Given the description of an element on the screen output the (x, y) to click on. 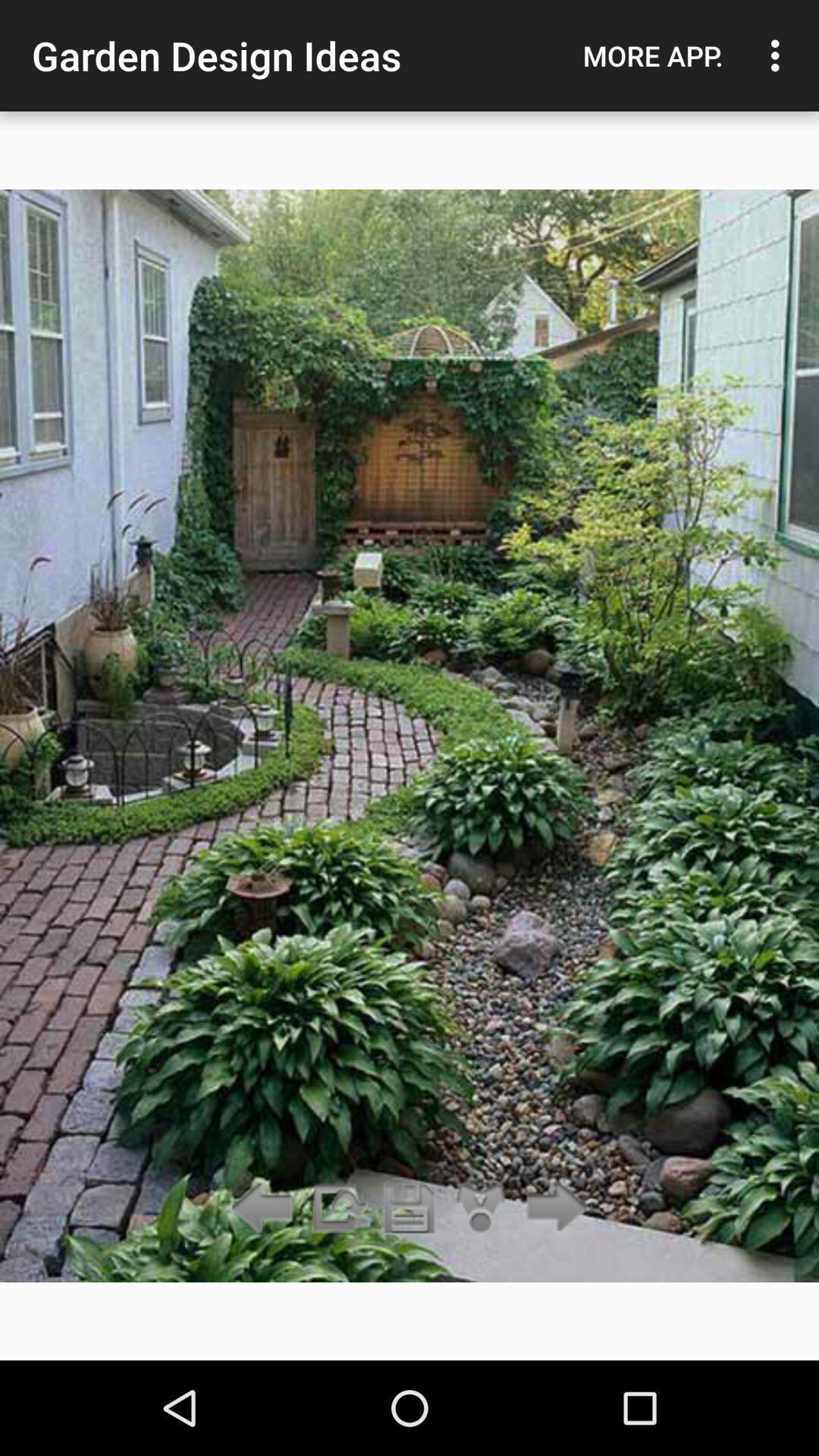
open icon below more app. icon (552, 1209)
